Given the description of an element on the screen output the (x, y) to click on. 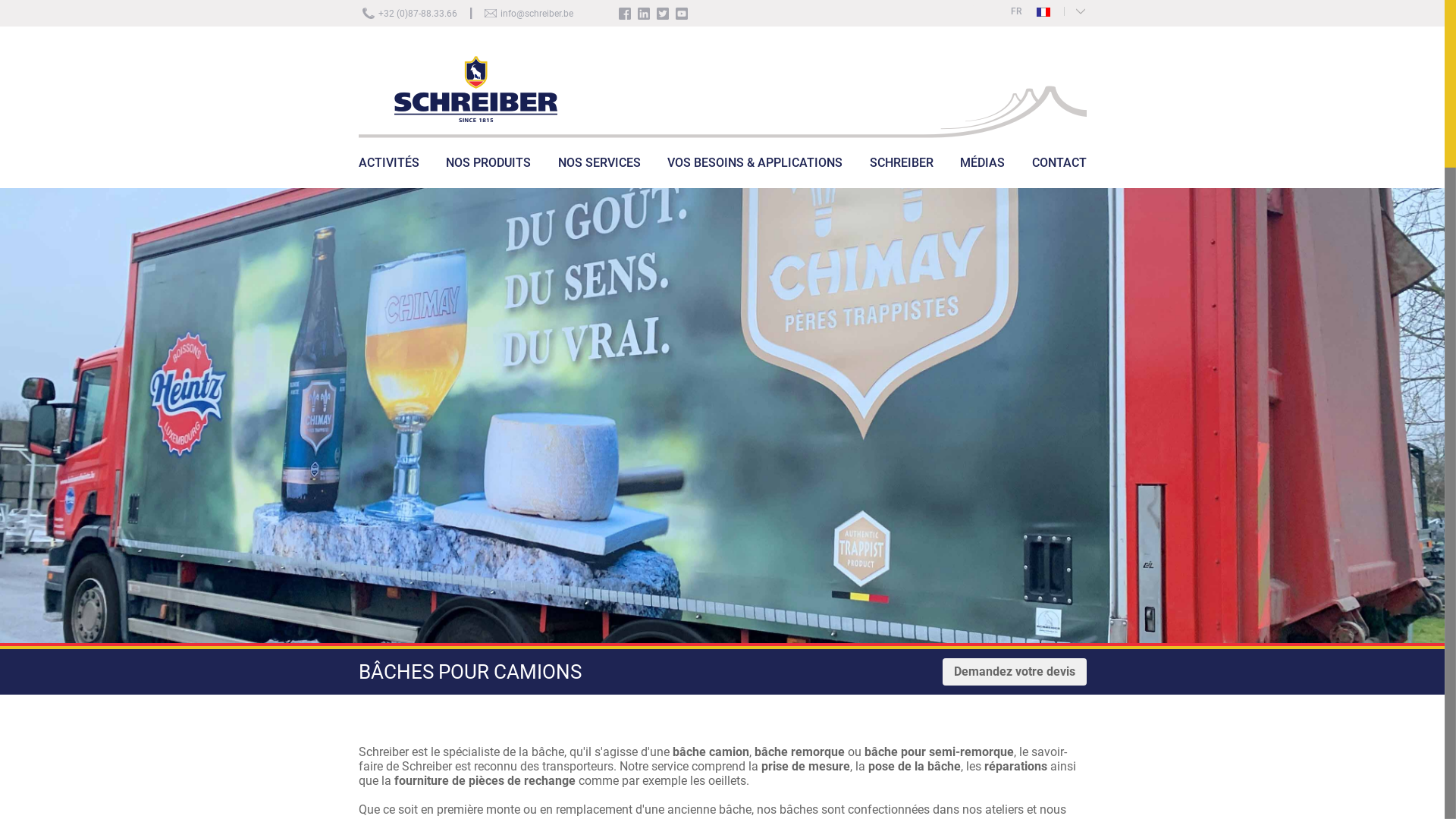
Twitter Element type: hover (662, 13)
CONTACT Element type: text (1058, 174)
Facebook Element type: hover (624, 13)
LinkedIn Element type: hover (643, 13)
info@schreiber.be Element type: text (536, 13)
VOS BESOINS & APPLICATIONS Element type: text (754, 174)
CONTACT Element type: text (1058, 162)
Youtube Element type: hover (680, 13)
Demandez votre devis Element type: text (1013, 671)
NOS SERVICES Element type: text (599, 174)
SCHREIBER Element type: text (900, 174)
NOS PRODUITS Element type: text (487, 174)
FR Element type: text (1029, 11)
